Given the description of an element on the screen output the (x, y) to click on. 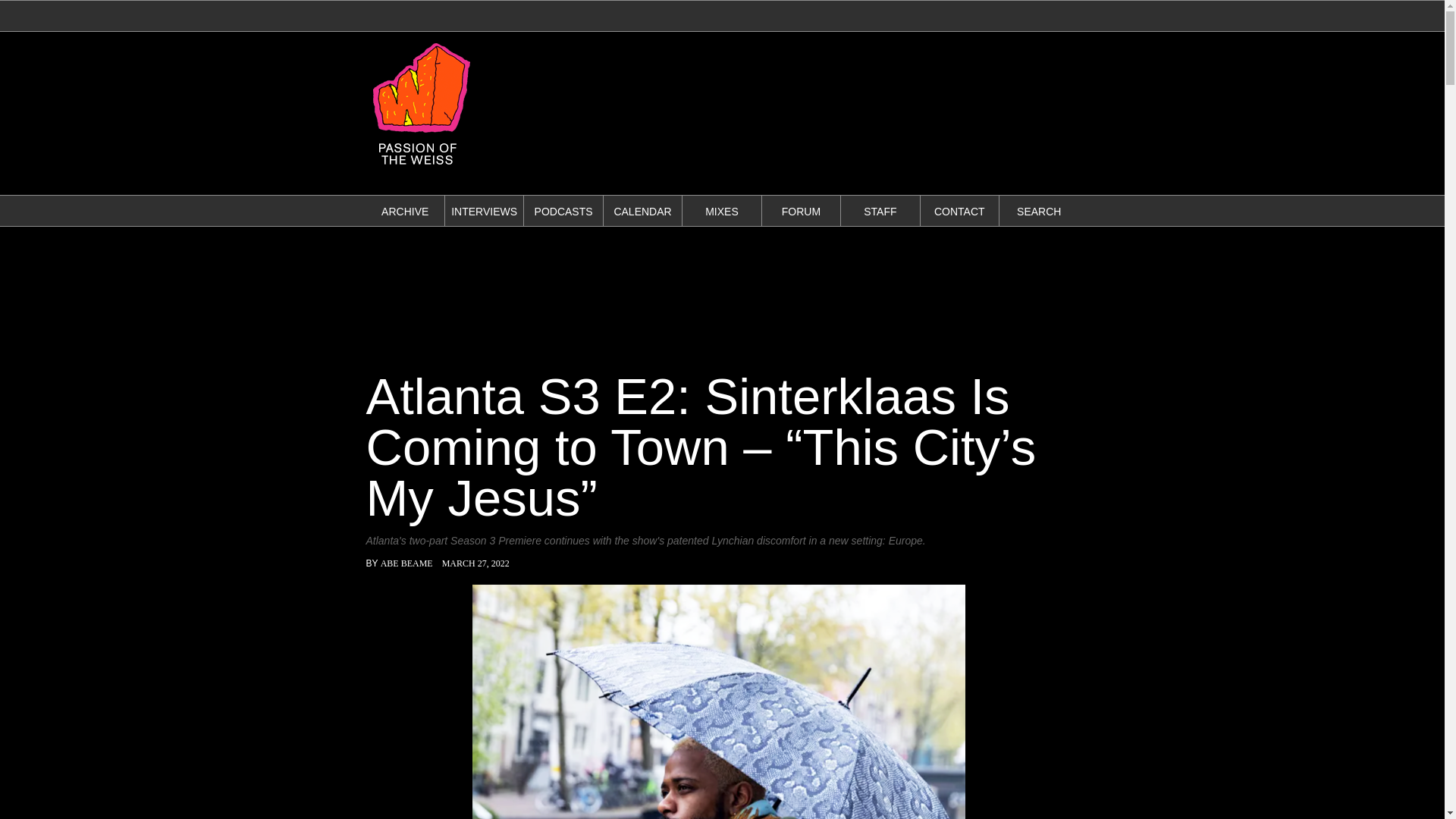
CALENDAR (641, 211)
ABE BEAME (406, 562)
STAFF (879, 211)
PODCASTS (563, 211)
SEARCH (1038, 211)
Passion of the Weiss (420, 168)
INTERVIEWS (483, 211)
ARCHIVE (404, 211)
MIXES (721, 211)
Posts by Abe Beame (406, 562)
FORUM (801, 211)
CONTACT (959, 211)
